Given the description of an element on the screen output the (x, y) to click on. 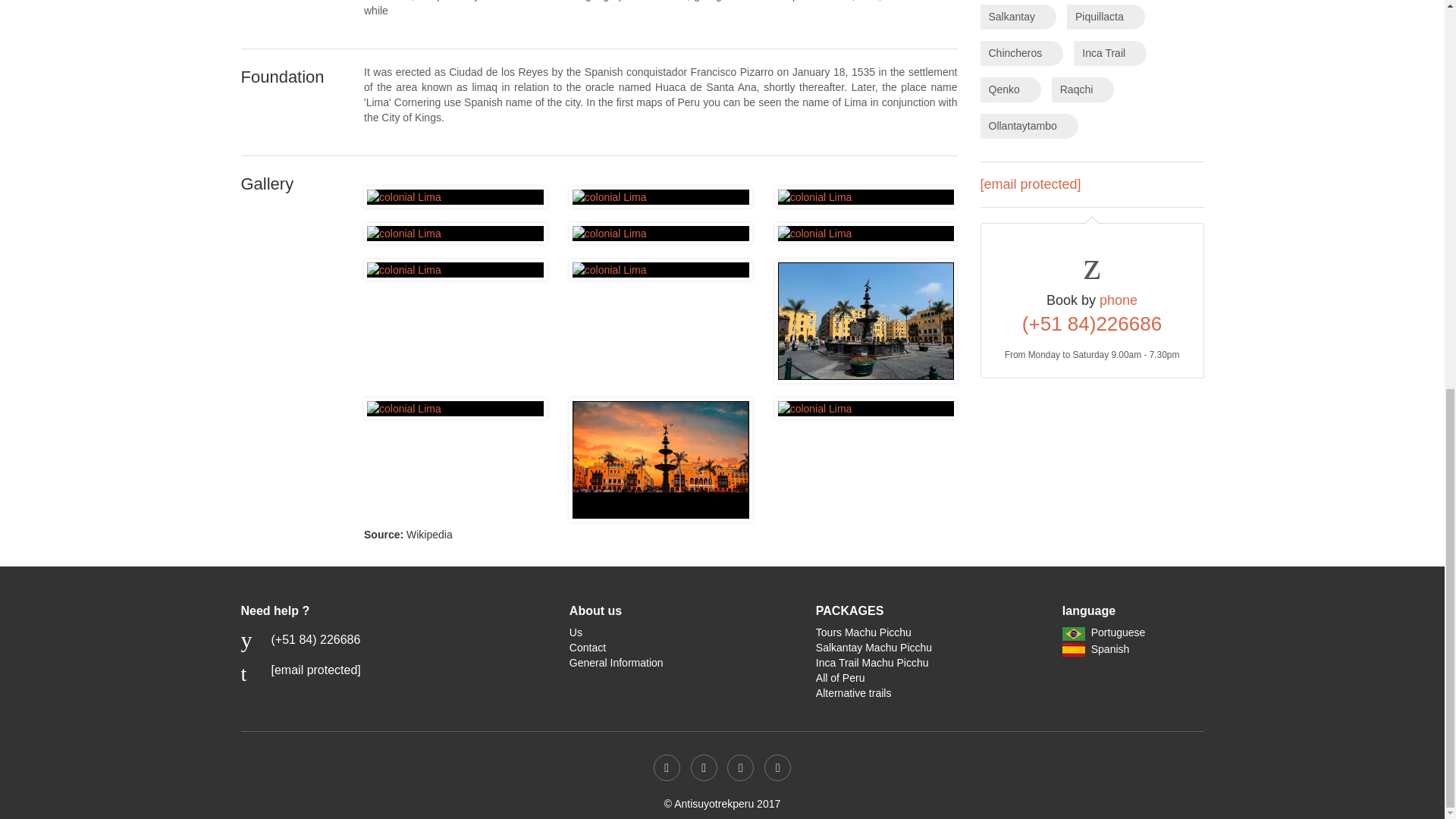
colonial Lima (660, 459)
colonial Lima (866, 408)
colonial Lima (660, 196)
colonial Lima (454, 269)
colonial Lima (454, 196)
colonial Lima (454, 408)
colonial Lima (454, 233)
colonial Lima (866, 233)
colonial Lima (866, 321)
colonial Lima (660, 233)
